Given the description of an element on the screen output the (x, y) to click on. 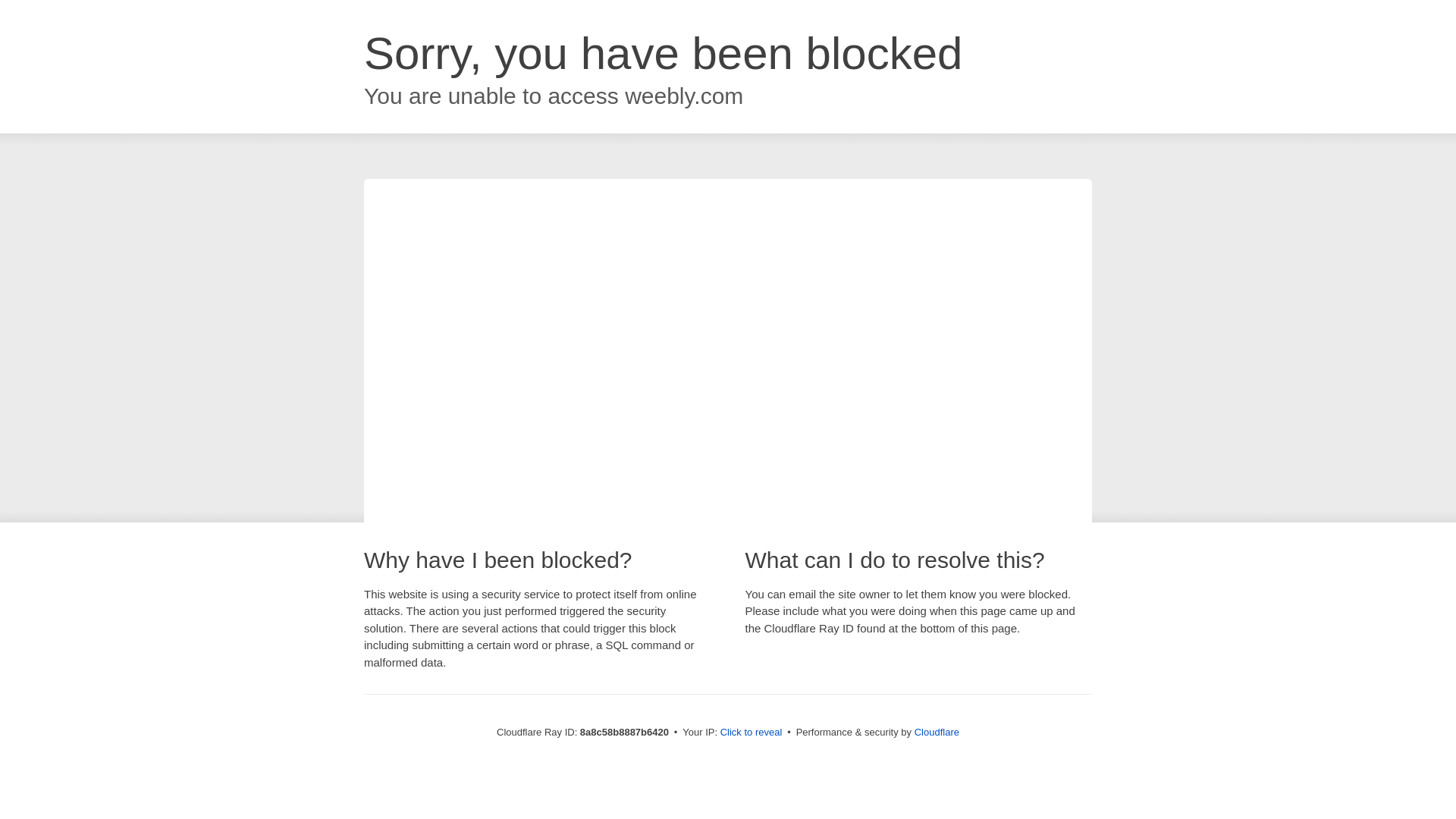
Cloudflare (936, 731)
Click to reveal (751, 732)
